Given the description of an element on the screen output the (x, y) to click on. 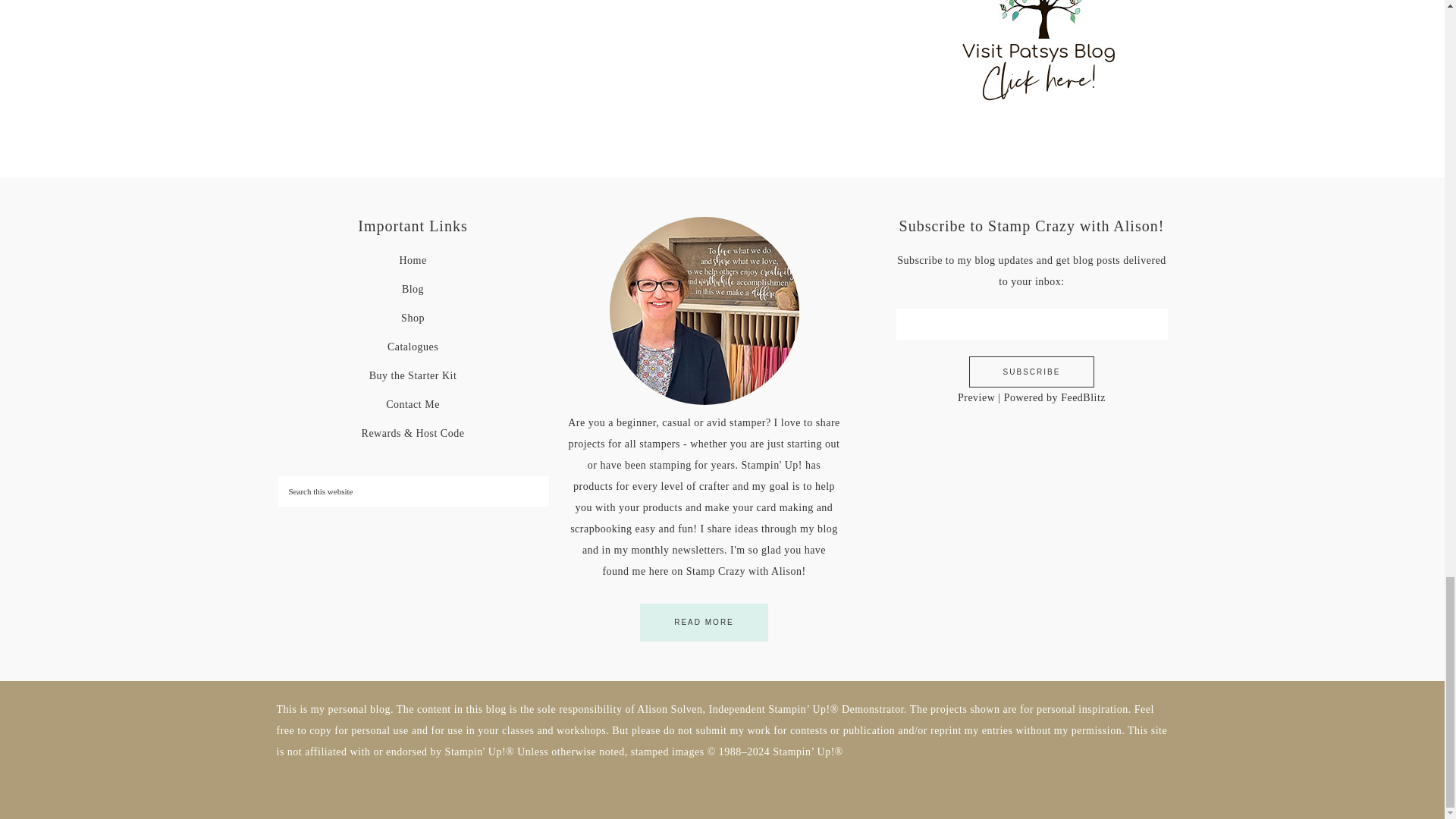
Subscribe (1031, 371)
